Given the description of an element on the screen output the (x, y) to click on. 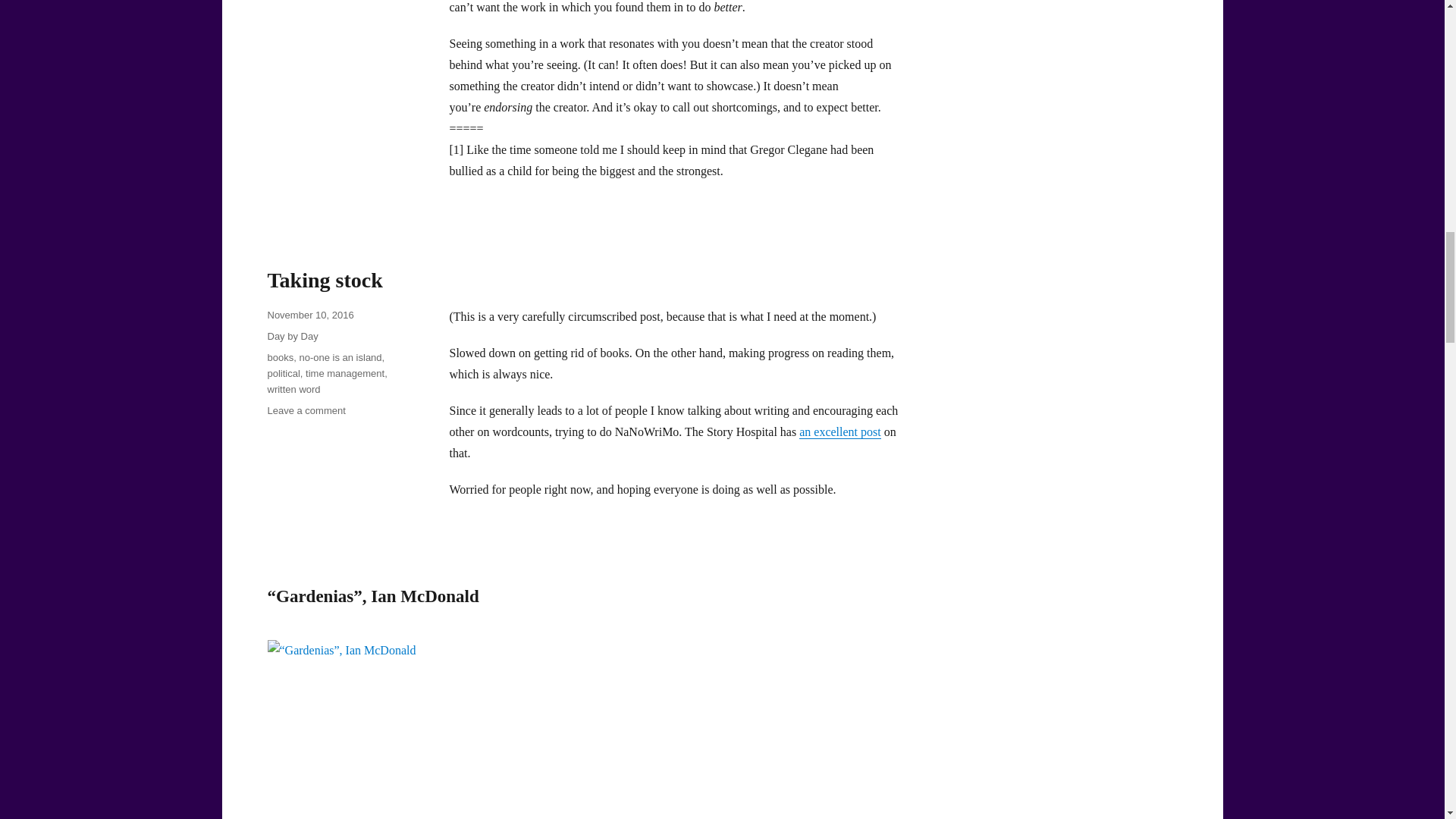
no-one is an island (339, 357)
Day by Day (291, 336)
November 10, 2016 (309, 315)
books (280, 357)
an excellent post (839, 431)
political (282, 373)
Taking stock (323, 279)
